Given the description of an element on the screen output the (x, y) to click on. 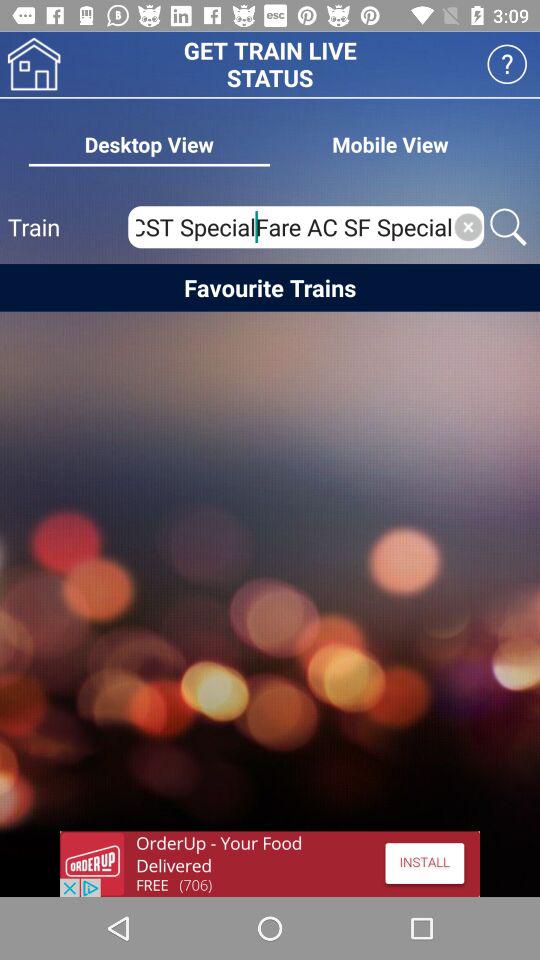
close button (468, 227)
